Given the description of an element on the screen output the (x, y) to click on. 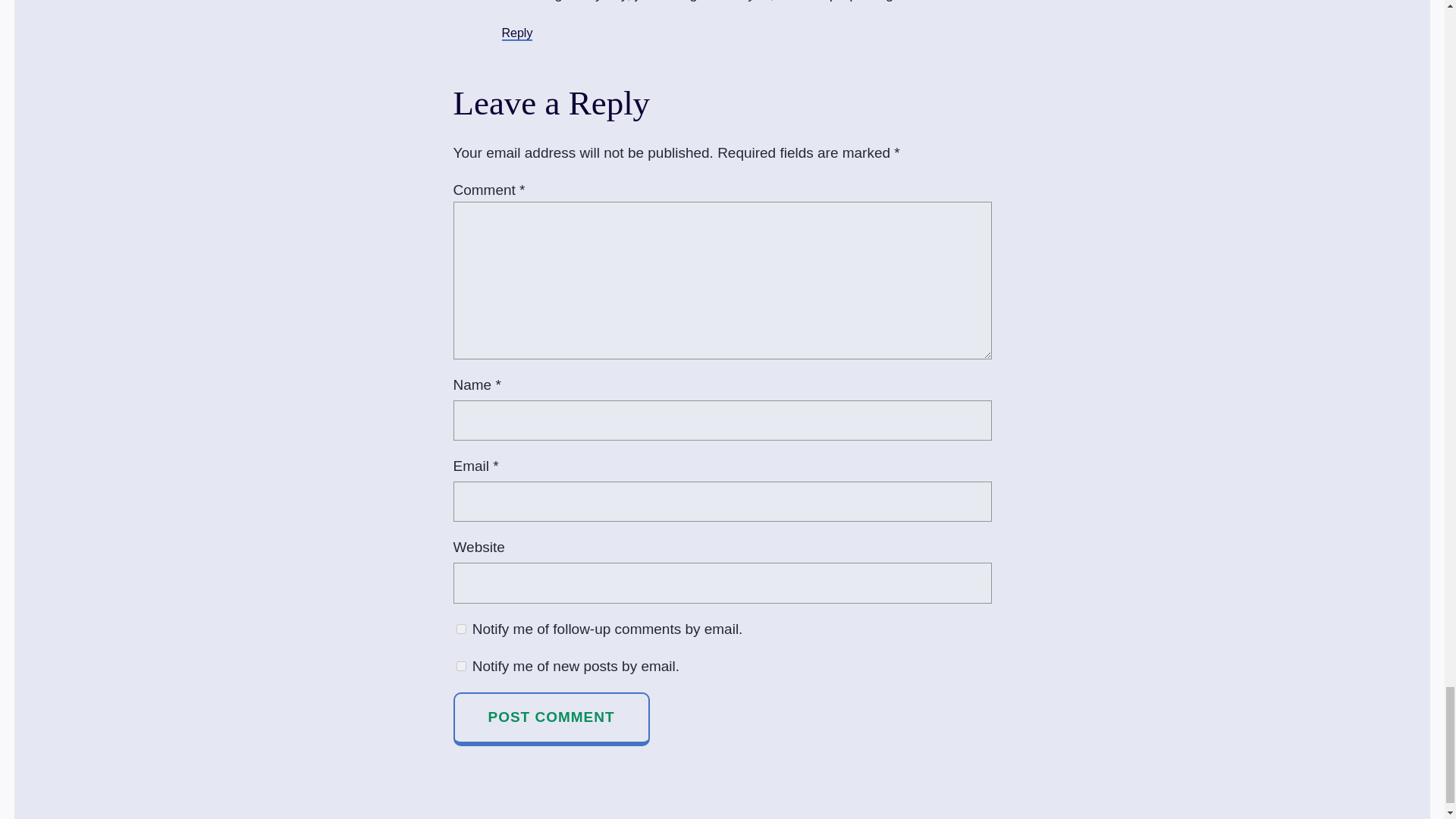
subscribe (461, 628)
Post Comment (550, 718)
subscribe (461, 665)
